Given the description of an element on the screen output the (x, y) to click on. 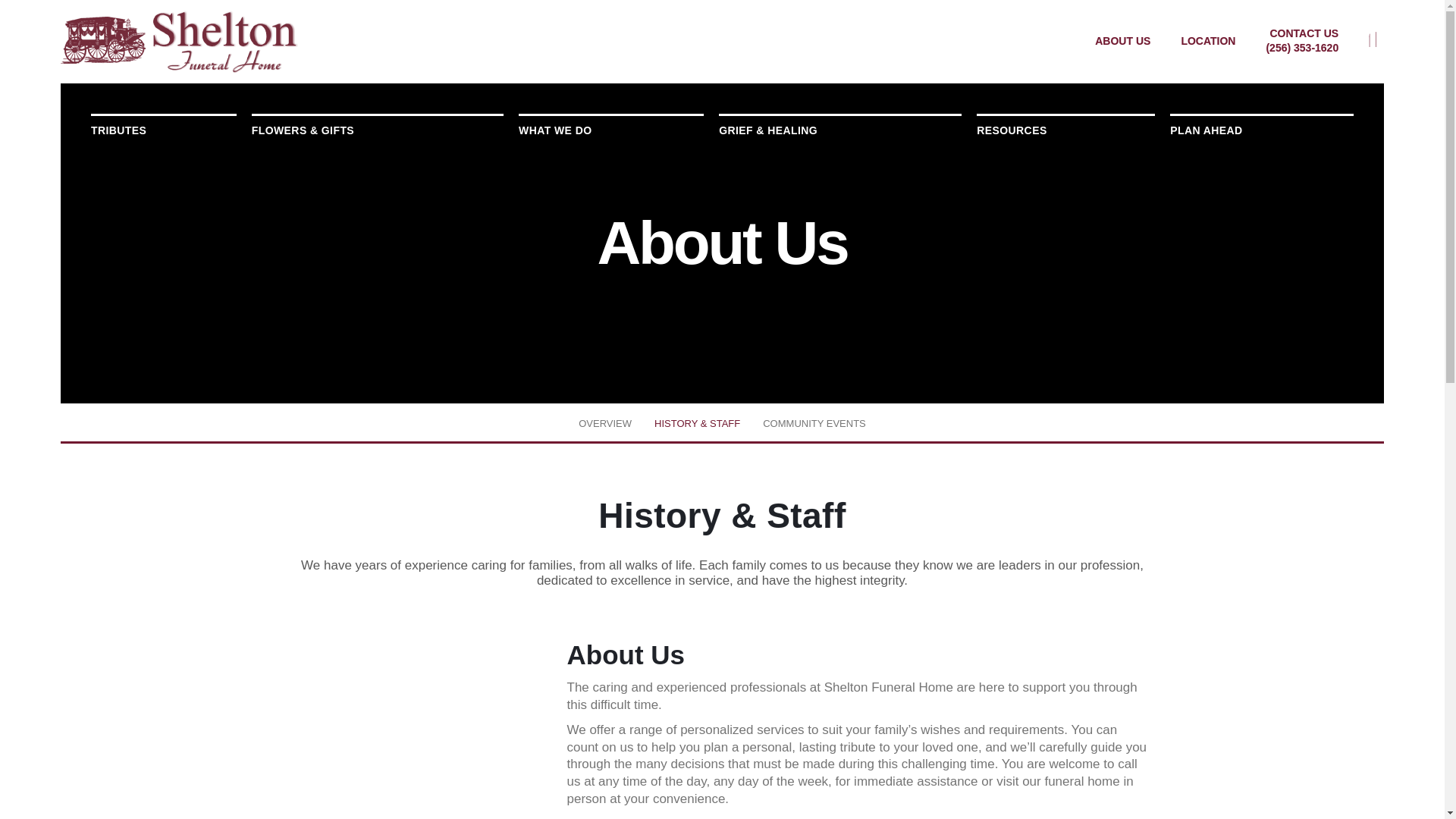
Skip to content (32, 15)
ABOUT US (1122, 40)
LOCATION (1207, 40)
WHAT WE DO (610, 129)
OVERVIEW (605, 423)
PLAN AHEAD (1262, 129)
CONTACT US (1303, 32)
COMMUNITY EVENTS (814, 423)
TRIBUTES (162, 129)
RESOURCES (1065, 129)
